Given the description of an element on the screen output the (x, y) to click on. 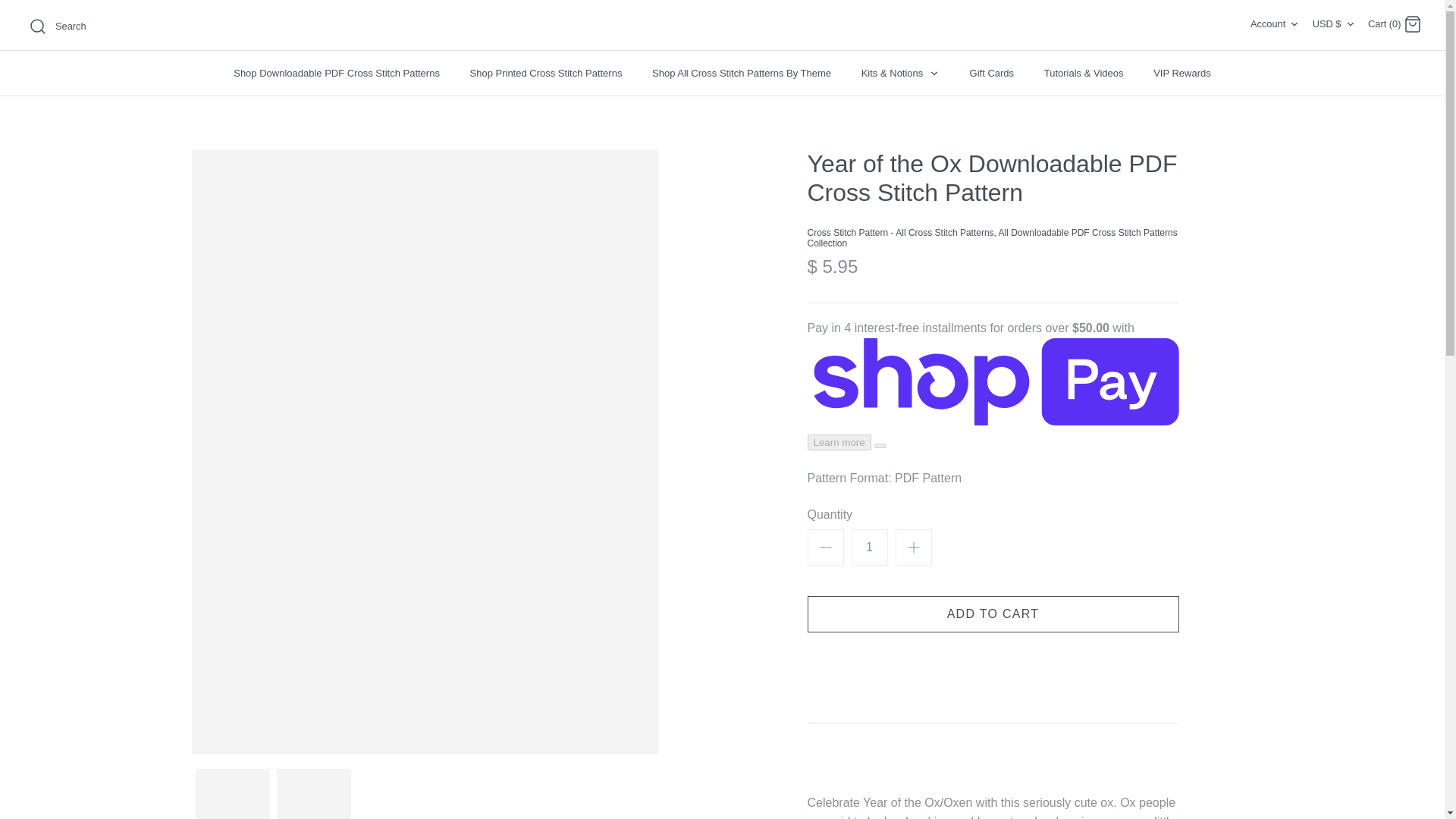
Plus (912, 547)
Minus (824, 547)
Add to Cart (991, 614)
Down (1350, 23)
Cart (1412, 24)
Toggle menu (933, 72)
The Frosted Pumpkin Stitchery (722, 25)
1 (868, 547)
Down (1294, 23)
